Given the description of an element on the screen output the (x, y) to click on. 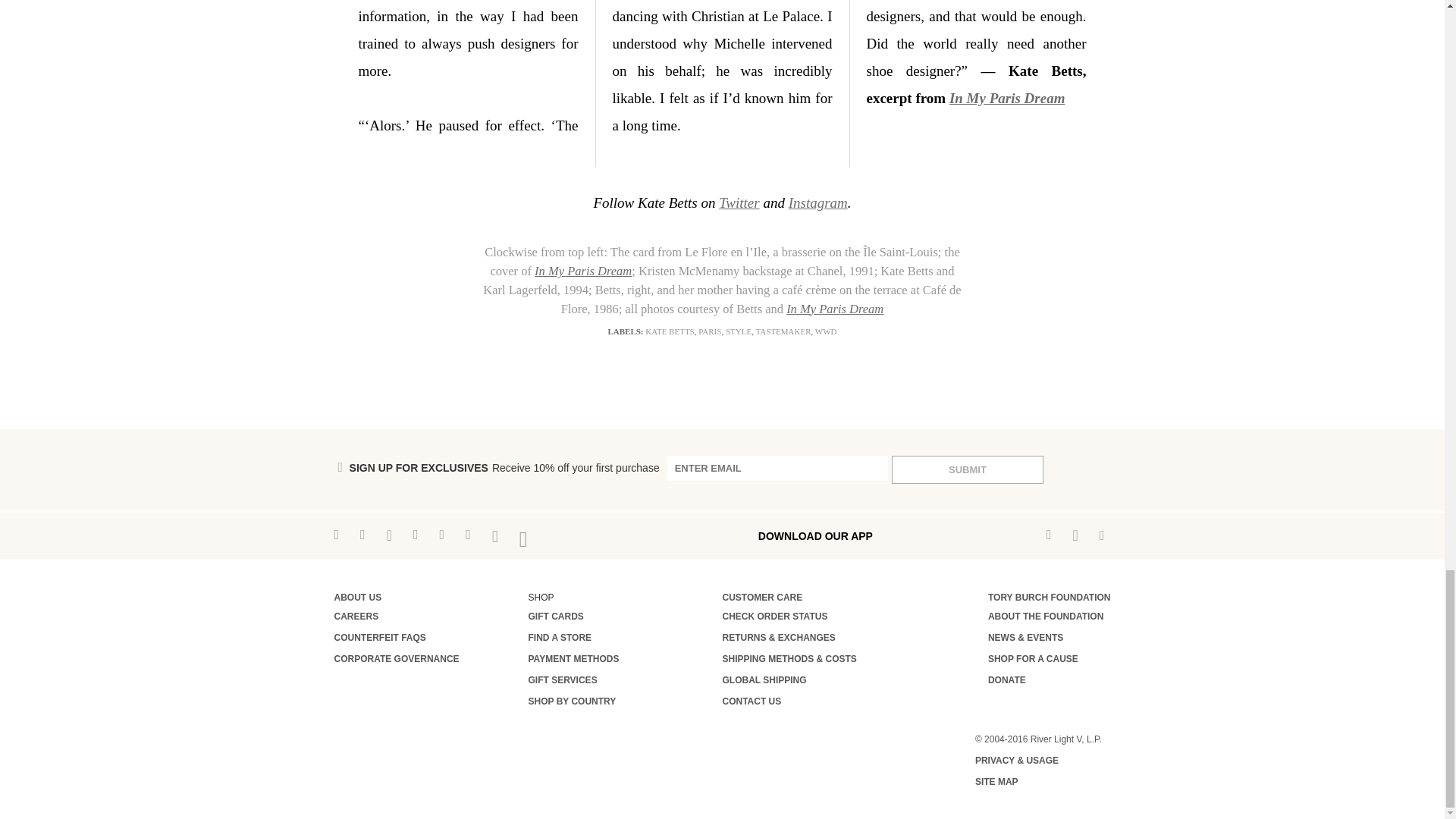
STYLE (738, 330)
Twitter (739, 202)
Instagram (818, 202)
KATE BETTS (669, 330)
In My Paris Dream (582, 270)
TASTEMAKER (782, 330)
SUBMIT (967, 469)
PARIS (709, 330)
In My Paris Dream (1007, 98)
WWD (826, 330)
In My Paris Dream (834, 309)
